Given the description of an element on the screen output the (x, y) to click on. 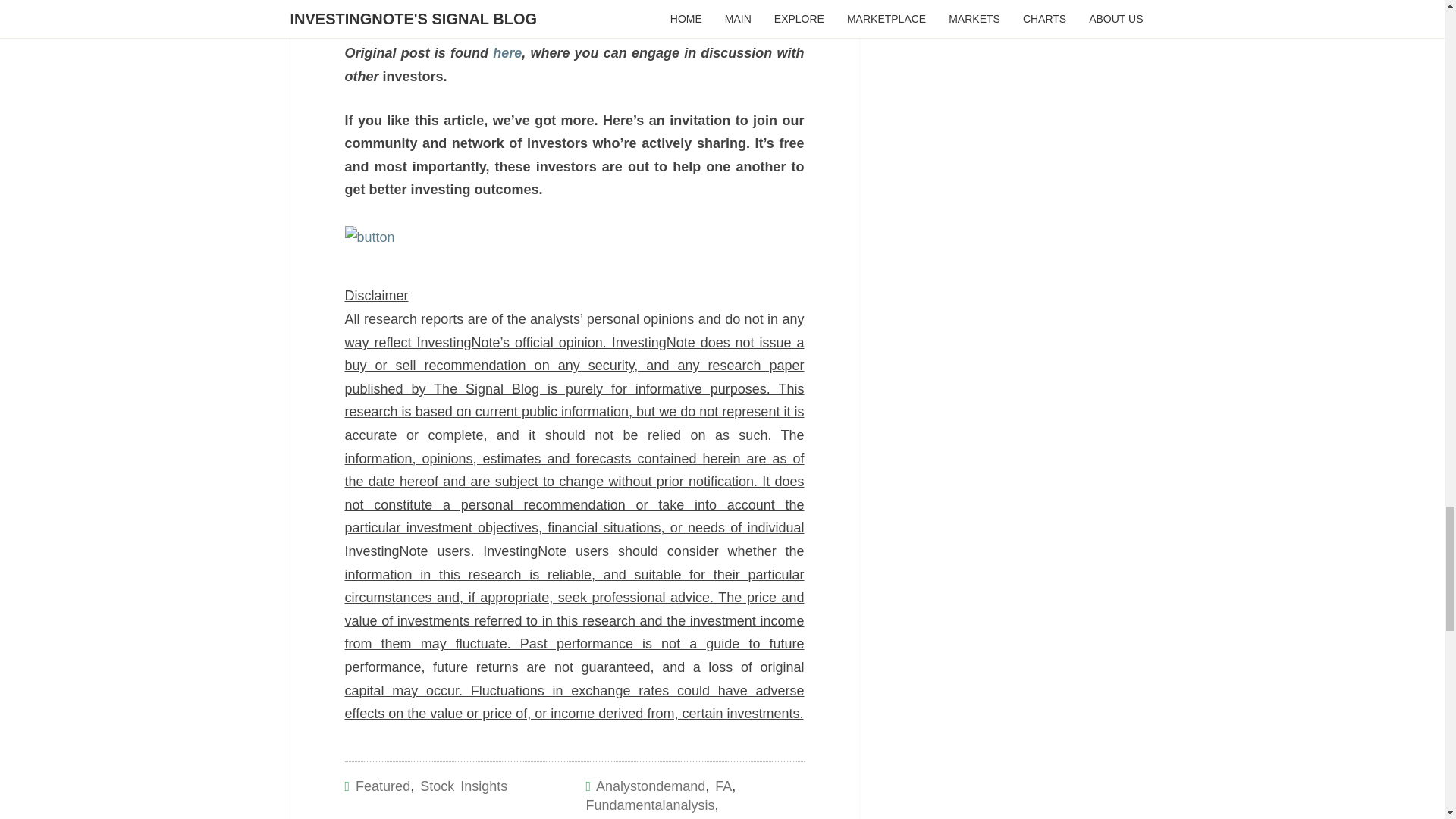
here (507, 52)
Stockscreening (726, 818)
Analystondemand (649, 785)
Stock Insights (463, 785)
Fundamentalanalysis (649, 805)
FA (723, 785)
Stockanalysis (626, 818)
Featured (382, 785)
